Given the description of an element on the screen output the (x, y) to click on. 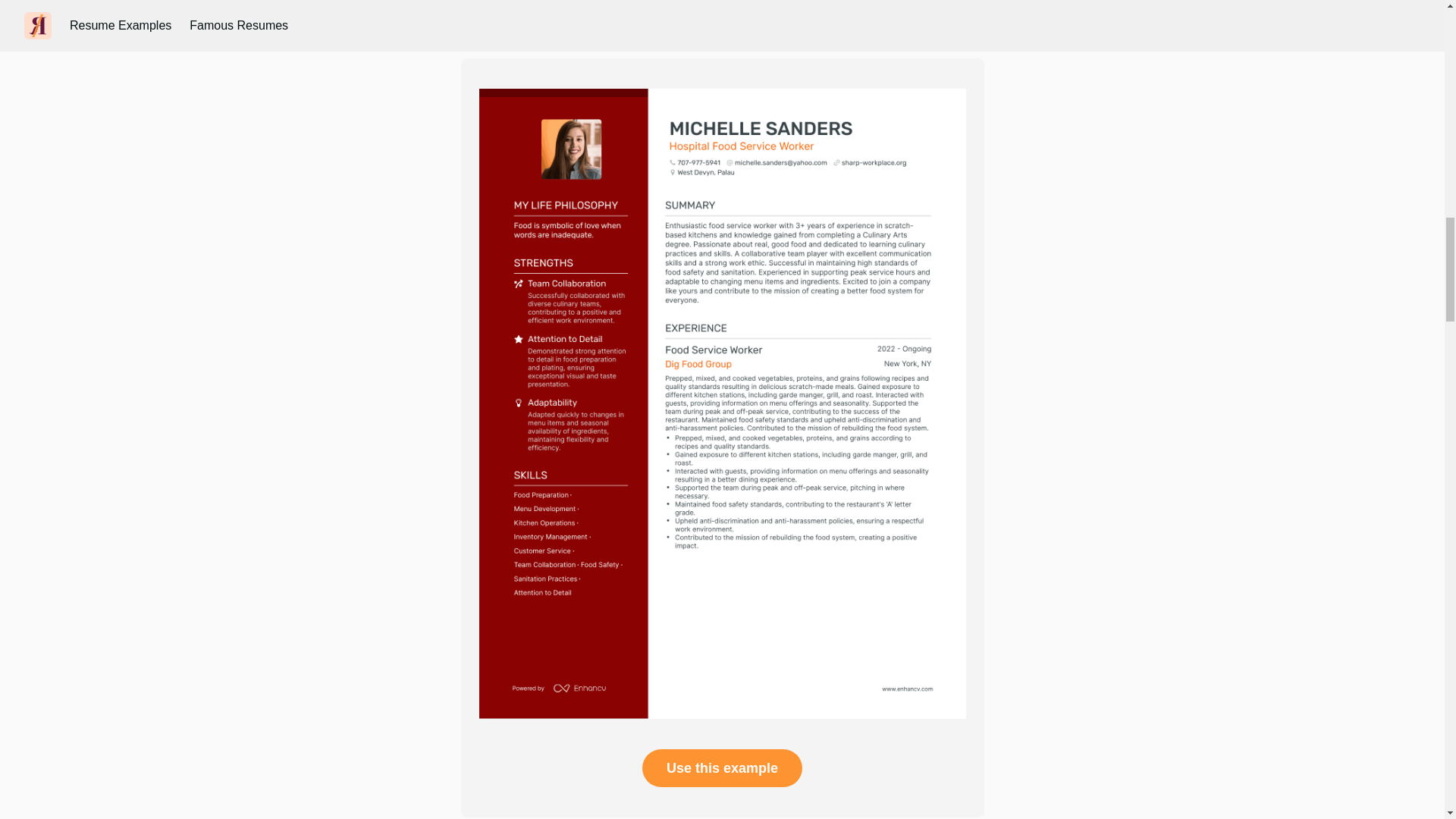
Use this example (722, 768)
